Given the description of an element on the screen output the (x, y) to click on. 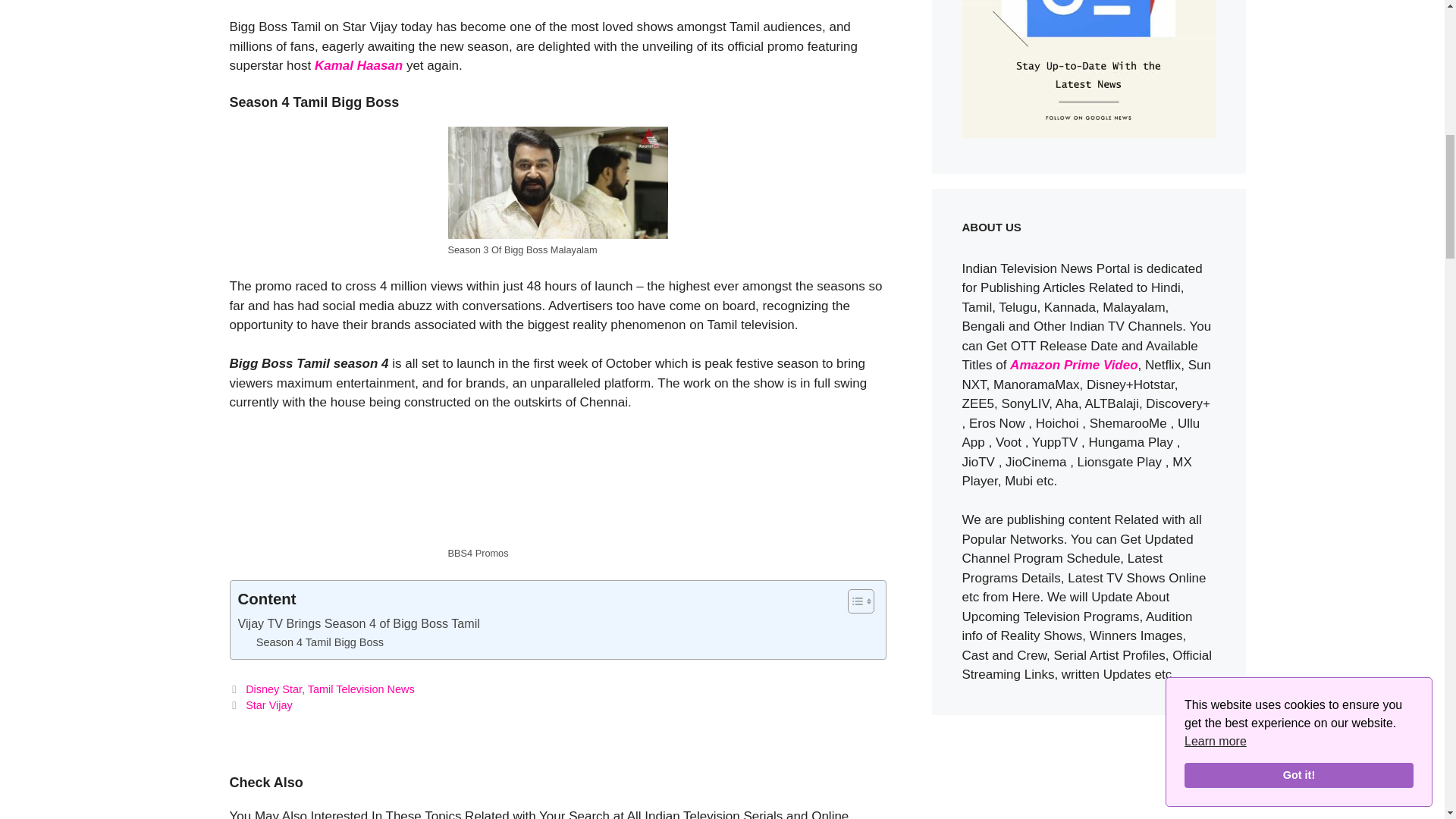
Kamal Haasan (358, 65)
